Given the description of an element on the screen output the (x, y) to click on. 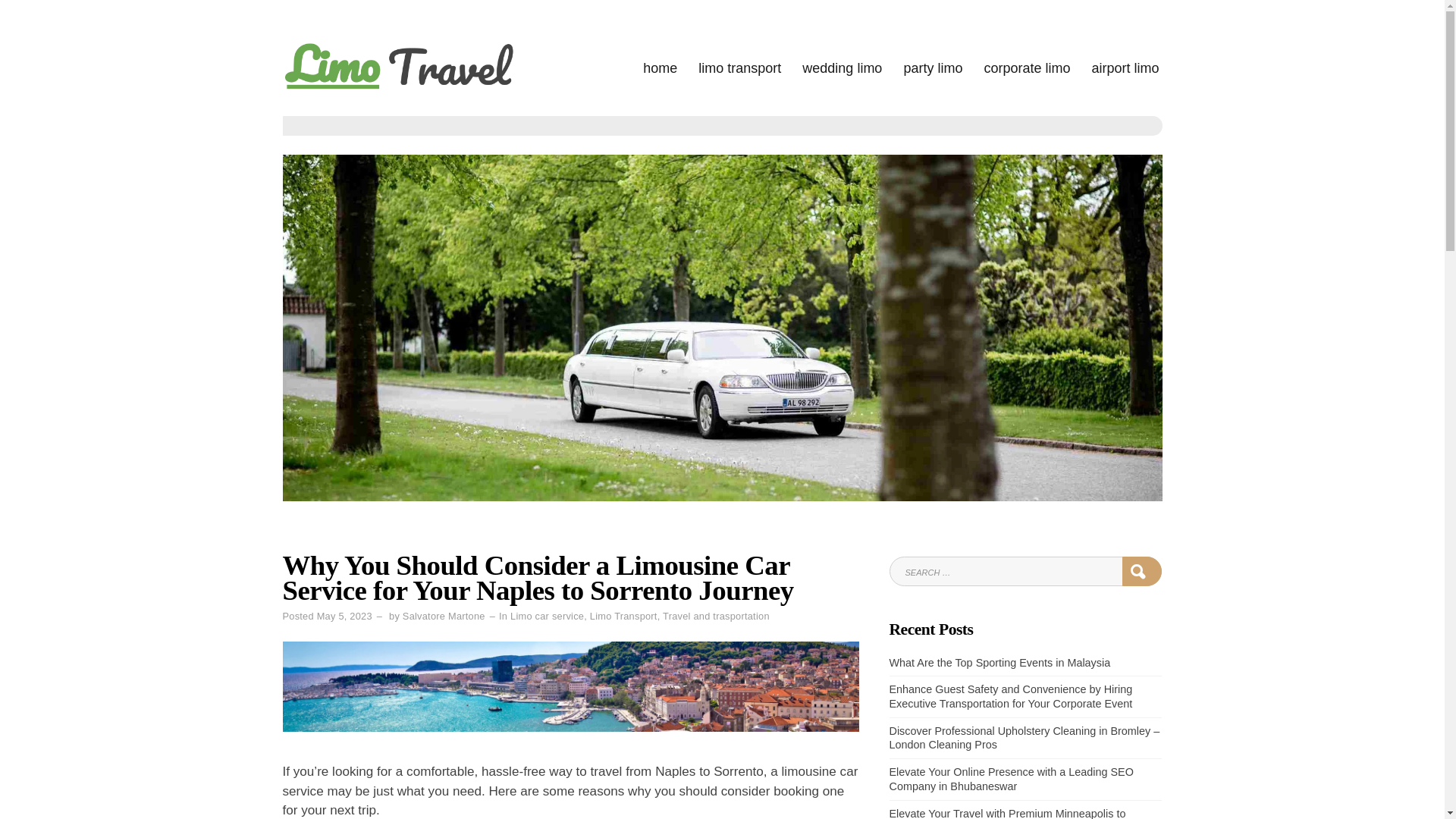
Limo car service (547, 615)
Limo Transport (623, 615)
Salvatore Martone (443, 615)
limo transport (739, 68)
party limo (932, 68)
home (660, 68)
corporate limo (1027, 68)
May 5, 2023 (344, 615)
wedding limo (842, 68)
SEARCH (1141, 571)
What Are the Top Sporting Events in Malaysia (998, 662)
Travel and trasportation (716, 615)
